Given the description of an element on the screen output the (x, y) to click on. 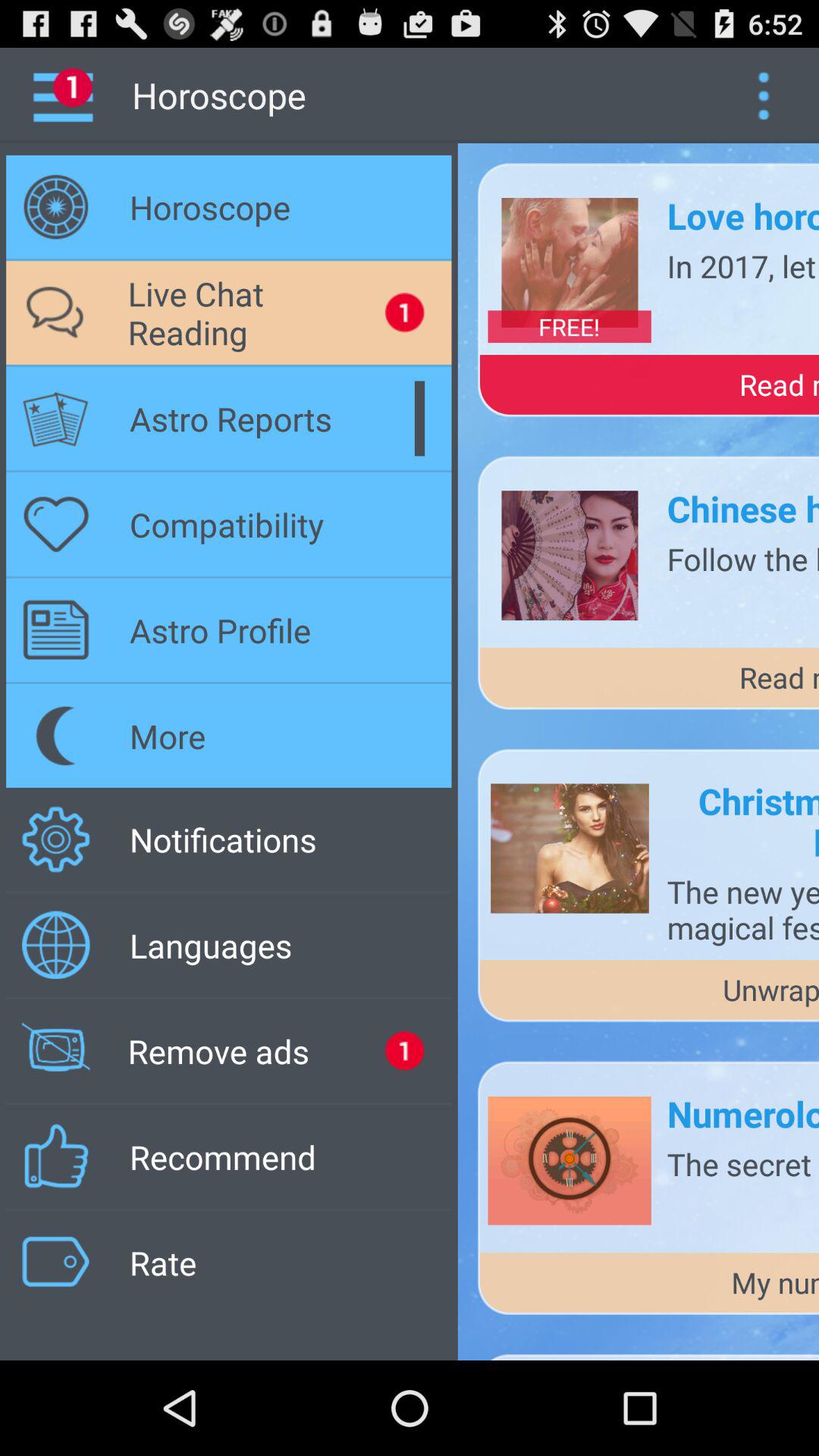
open the the new year icon (743, 909)
